Given the description of an element on the screen output the (x, y) to click on. 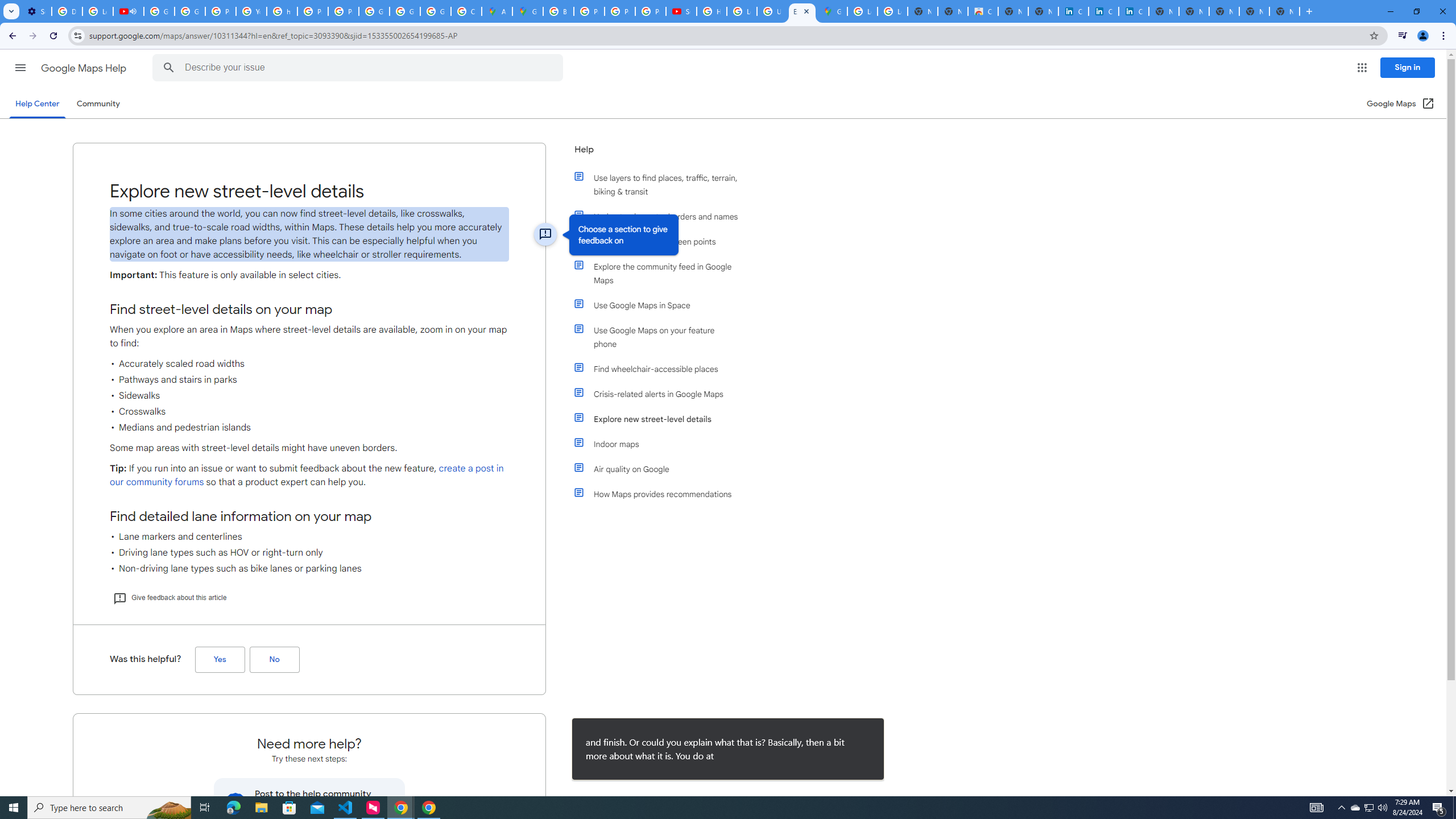
Find street-level details on your map (309, 309)
Explore new street-level details (661, 419)
Community (97, 103)
Give feedback about this article (169, 597)
Blogger Policies and Guidelines - Transparency Center (558, 11)
Google Maps (Open in a new window) (1400, 103)
